Given the description of an element on the screen output the (x, y) to click on. 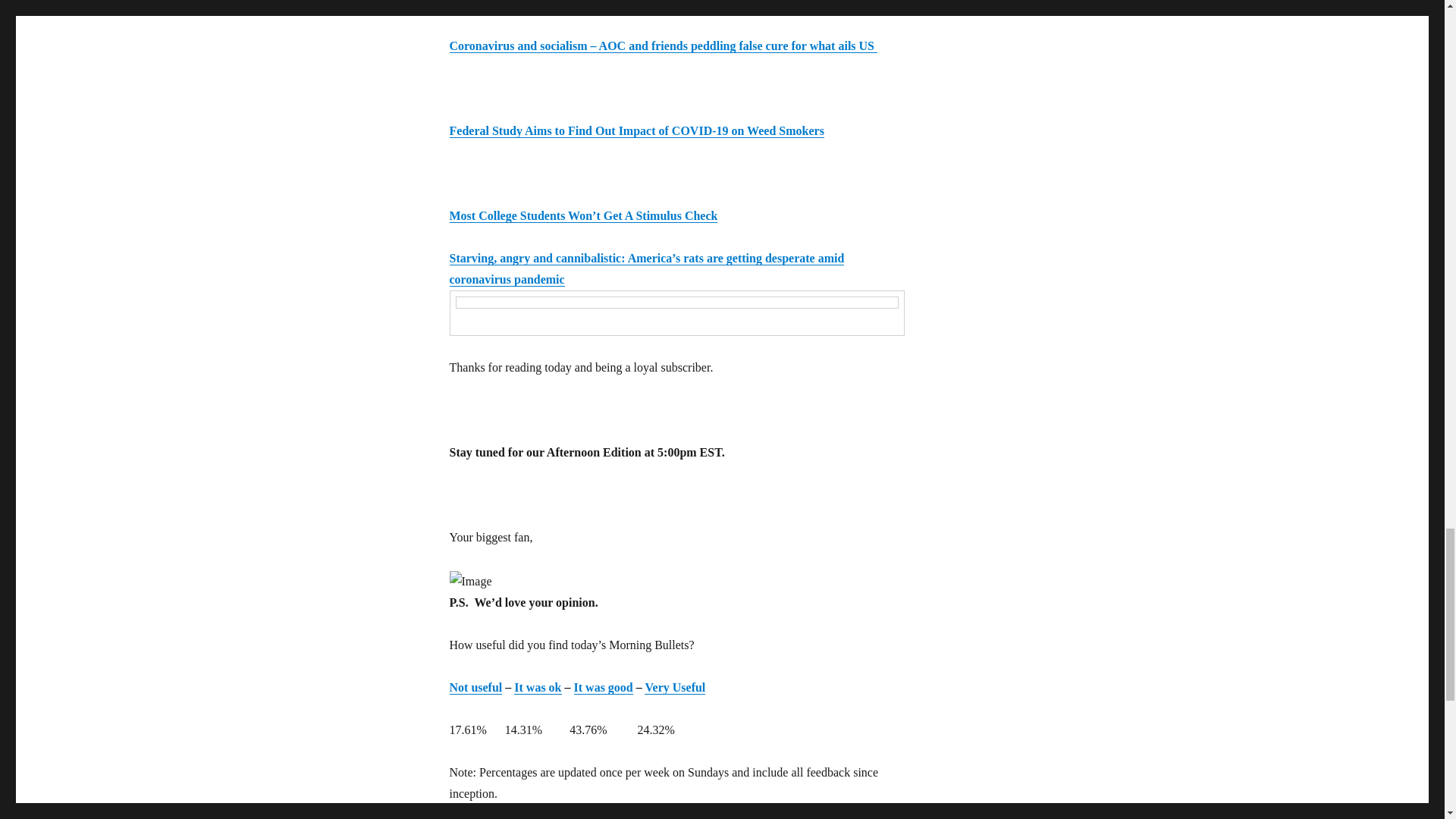
It was good (603, 686)
Very Useful (674, 686)
Not useful (475, 686)
Image (470, 581)
It was ok (536, 686)
